Given the description of an element on the screen output the (x, y) to click on. 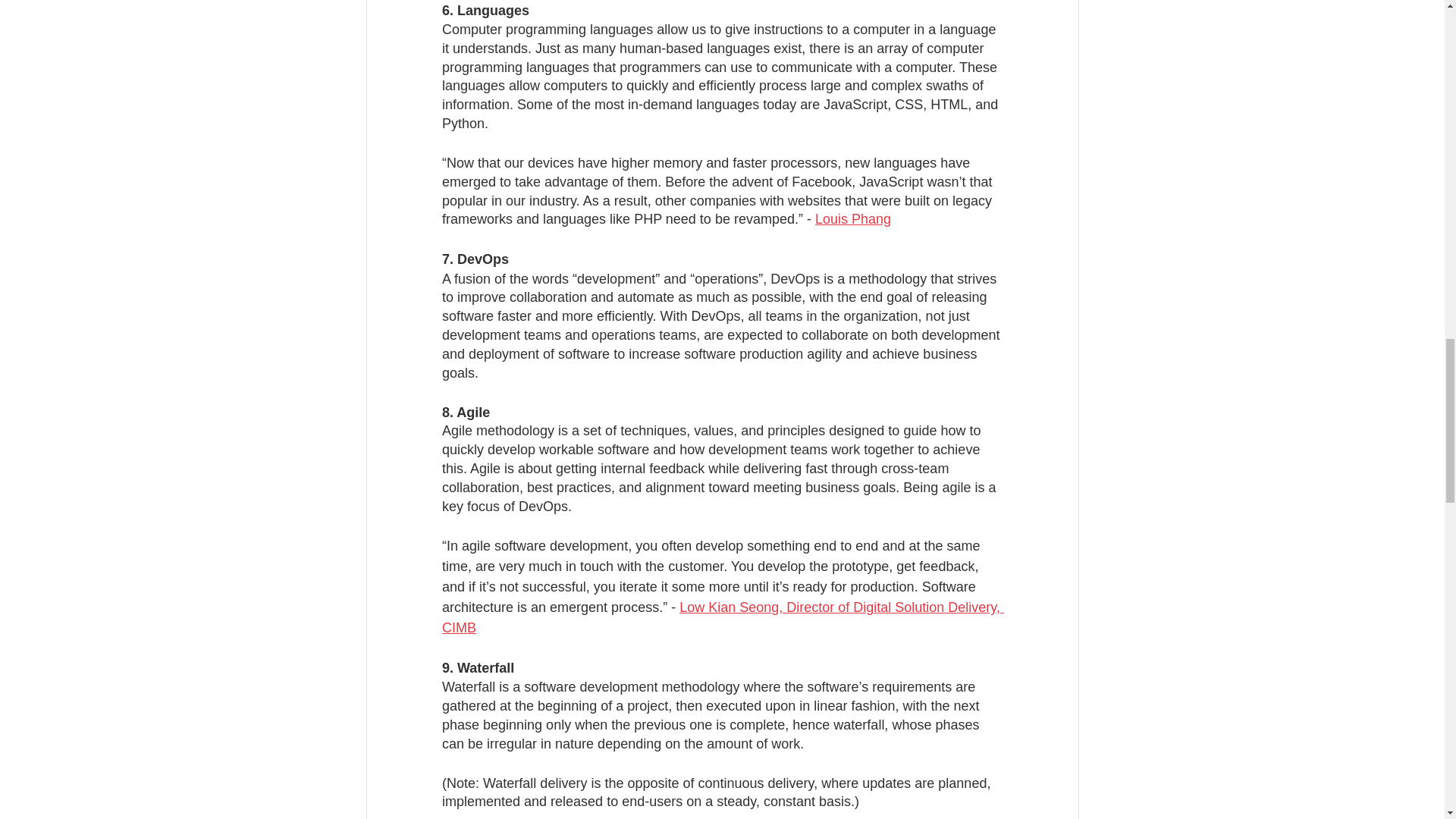
Louis Phang (851, 218)
Low Kian Seong, Director of Digital Solution Delivery, CIMB (722, 617)
